Given the description of an element on the screen output the (x, y) to click on. 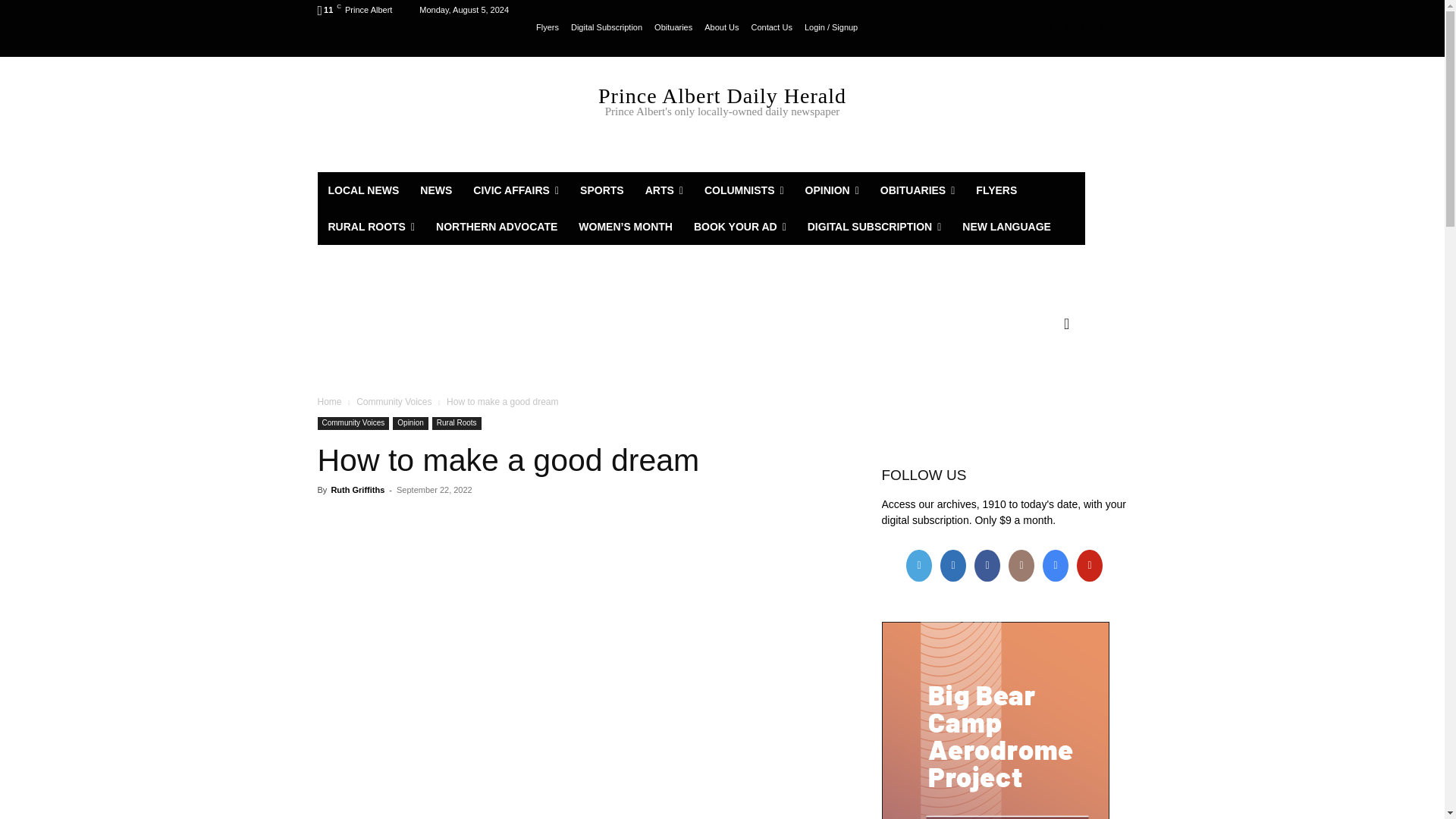
Twitter (1084, 27)
View all posts in Community Voices (393, 401)
Vimeo (1101, 27)
Facebook (1049, 27)
Instagram (1066, 27)
Youtube (1117, 27)
